Given the description of an element on the screen output the (x, y) to click on. 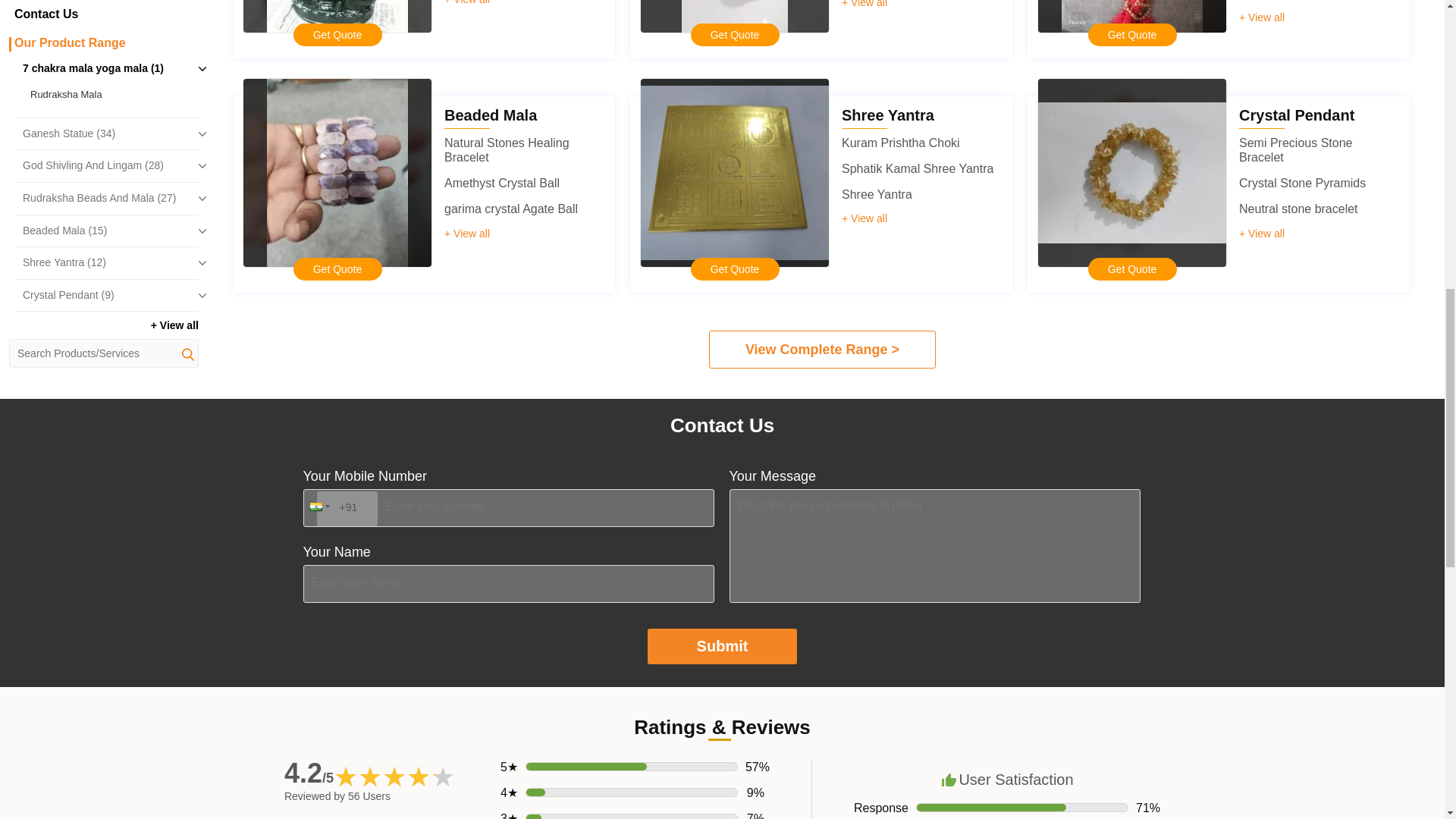
4.2 out of 5 Votes (308, 772)
Submit (722, 646)
